Given the description of an element on the screen output the (x, y) to click on. 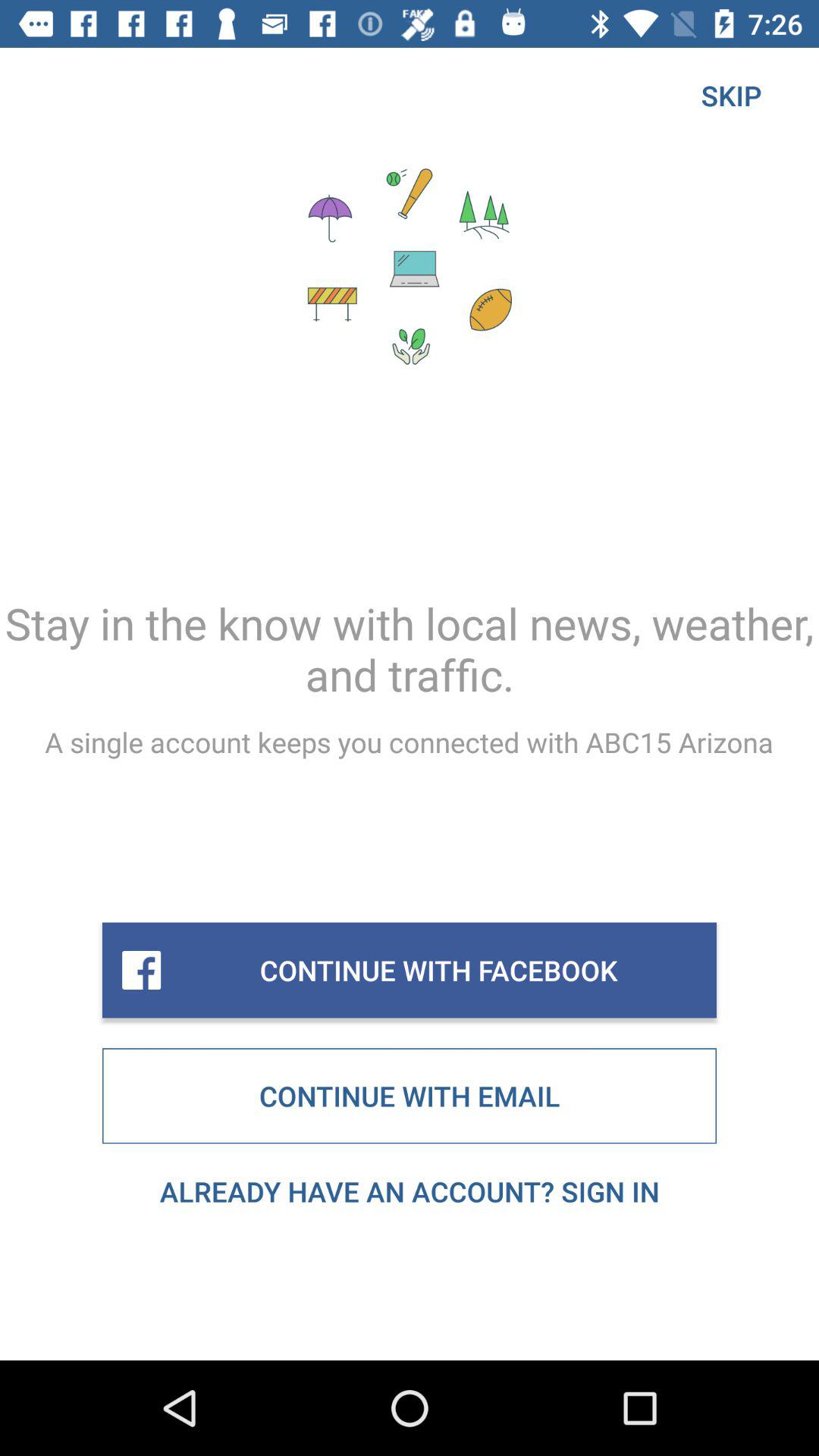
open item at the top right corner (731, 95)
